Given the description of an element on the screen output the (x, y) to click on. 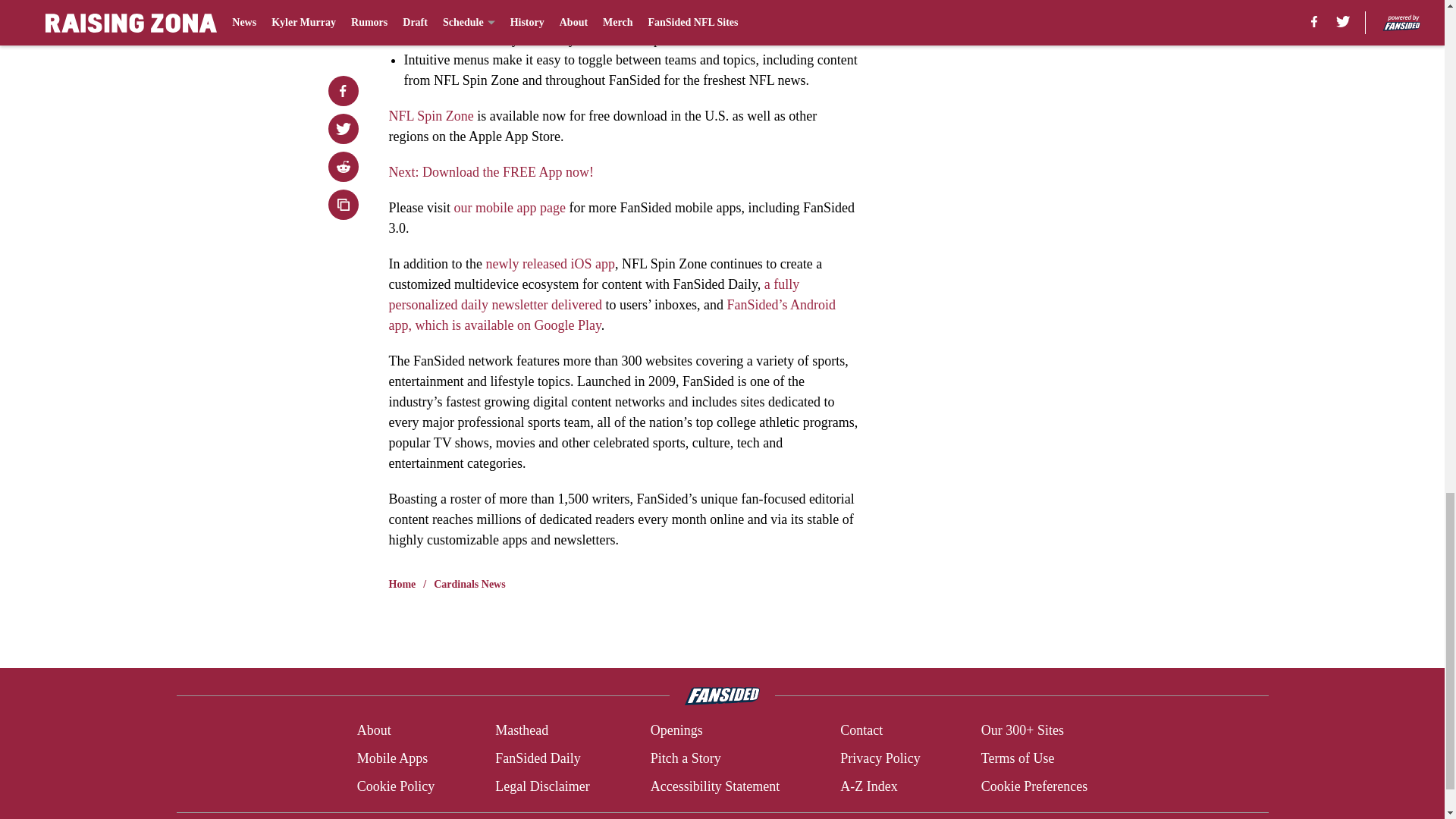
Cookie Policy (395, 786)
Accessibility Statement (714, 786)
Openings (676, 730)
Cardinals News (469, 584)
our mobile app page (508, 207)
Contact (861, 730)
newly released iOS app (549, 263)
Privacy Policy (880, 758)
Home (401, 584)
FanSided Daily (537, 758)
a fully personalized daily newsletter delivered (593, 294)
Next: Download the FREE App now! (490, 171)
Terms of Use (1017, 758)
Pitch a Story (685, 758)
NFL Spin Zone (430, 115)
